Given the description of an element on the screen output the (x, y) to click on. 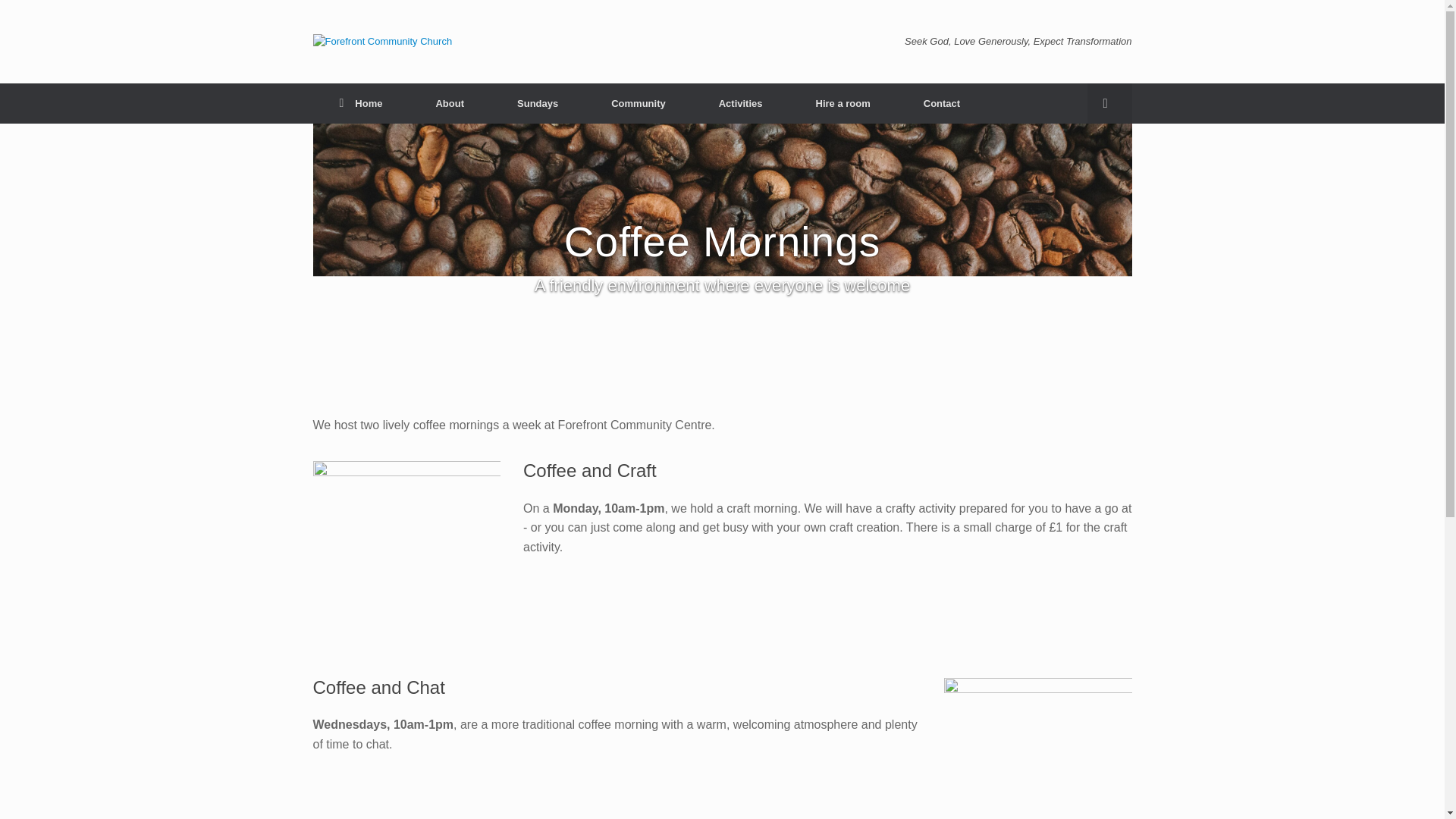
Sundays (537, 103)
Home (361, 103)
About (449, 103)
Contact (941, 103)
Activities (741, 103)
Community (639, 103)
Hire a room (842, 103)
